Given the description of an element on the screen output the (x, y) to click on. 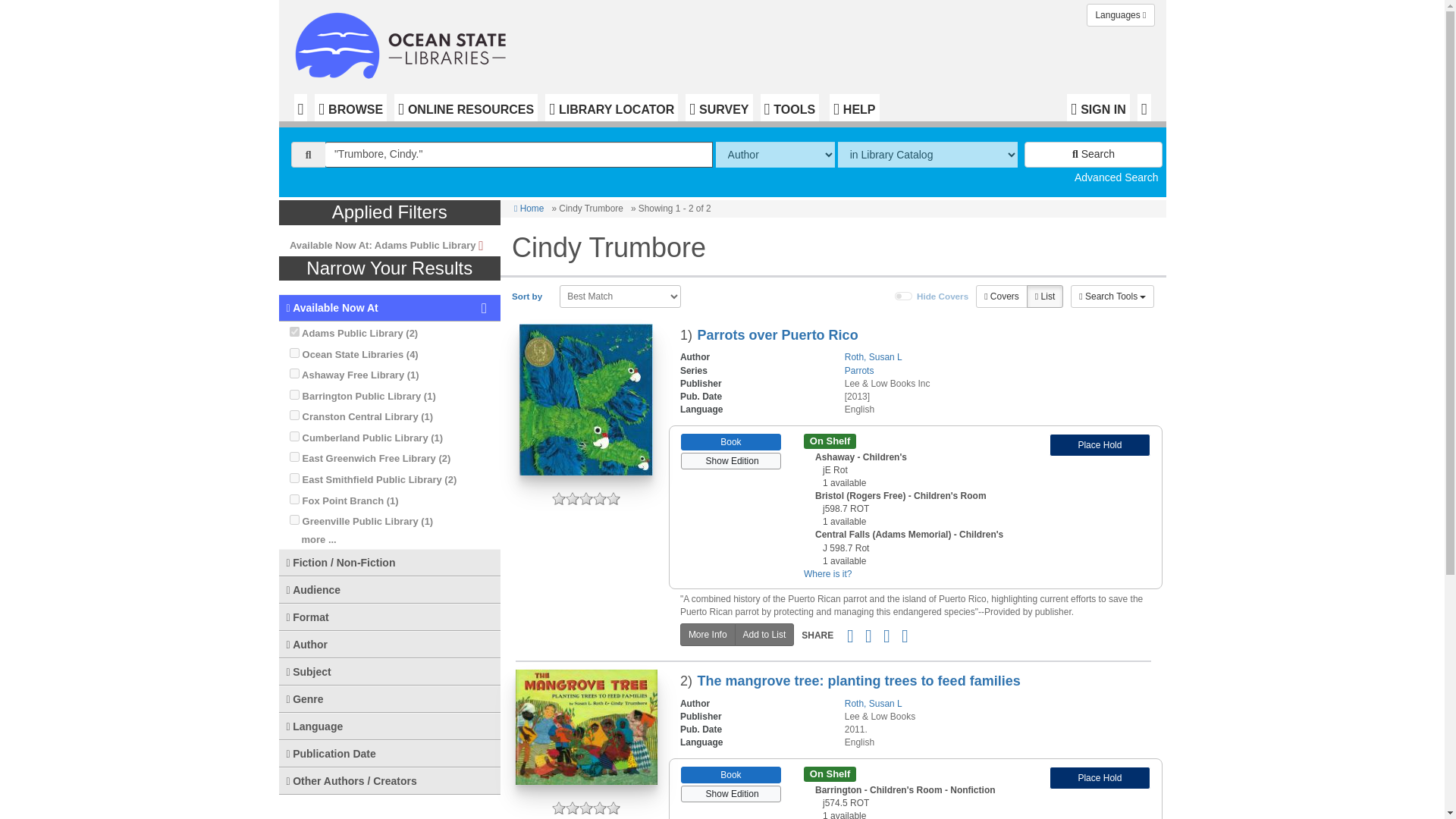
TOOLS (789, 107)
on (294, 456)
on (294, 436)
on (294, 331)
Library Home Page (402, 41)
"Trumbore, Cindy." (518, 154)
ONLINE RESOURCES (465, 107)
on (903, 296)
SIGN IN (1098, 107)
on (294, 499)
on (294, 352)
on (294, 478)
LIBRARY LOCATOR (611, 107)
HELP (854, 107)
